Given the description of an element on the screen output the (x, y) to click on. 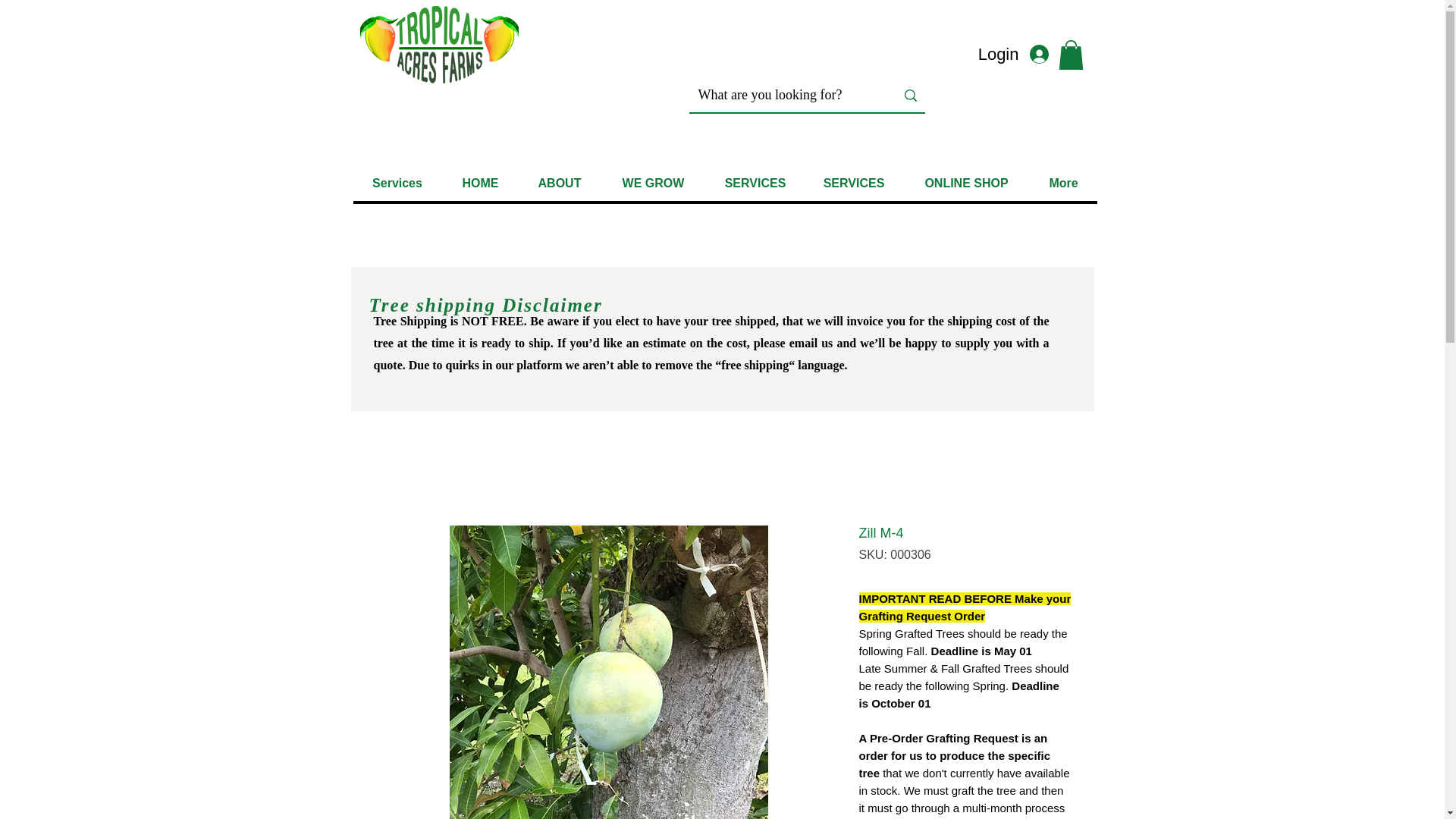
ONLINE SHOP (965, 182)
HOME (479, 182)
Services (397, 182)
Login (1020, 54)
ABOUT (558, 182)
SERVICES (753, 182)
